Given the description of an element on the screen output the (x, y) to click on. 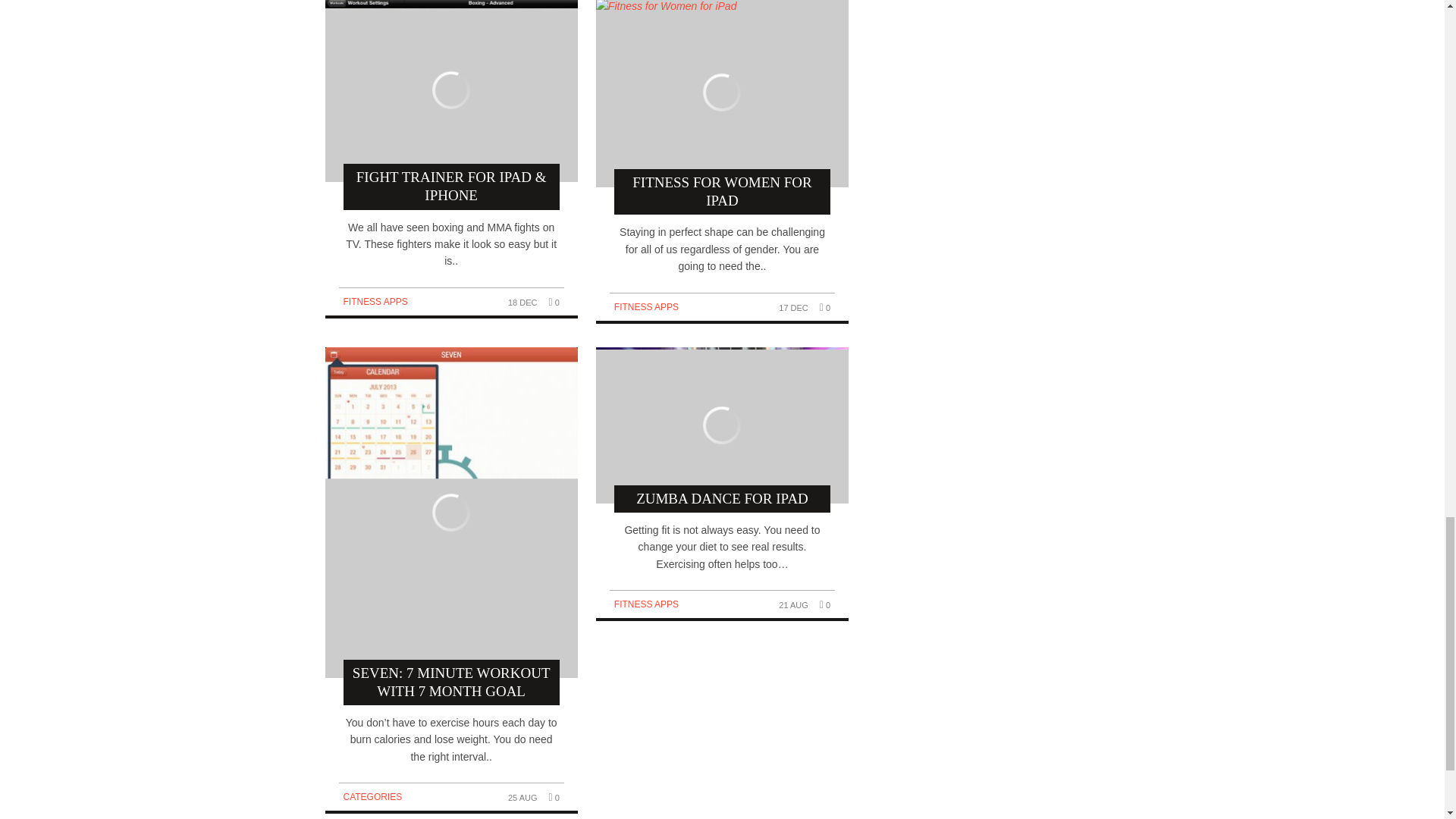
View all posts in Fitness Apps (646, 603)
View all posts in Categories (371, 796)
View all posts in Fitness Apps (646, 307)
View all posts in Fitness Apps (374, 301)
